Given the description of an element on the screen output the (x, y) to click on. 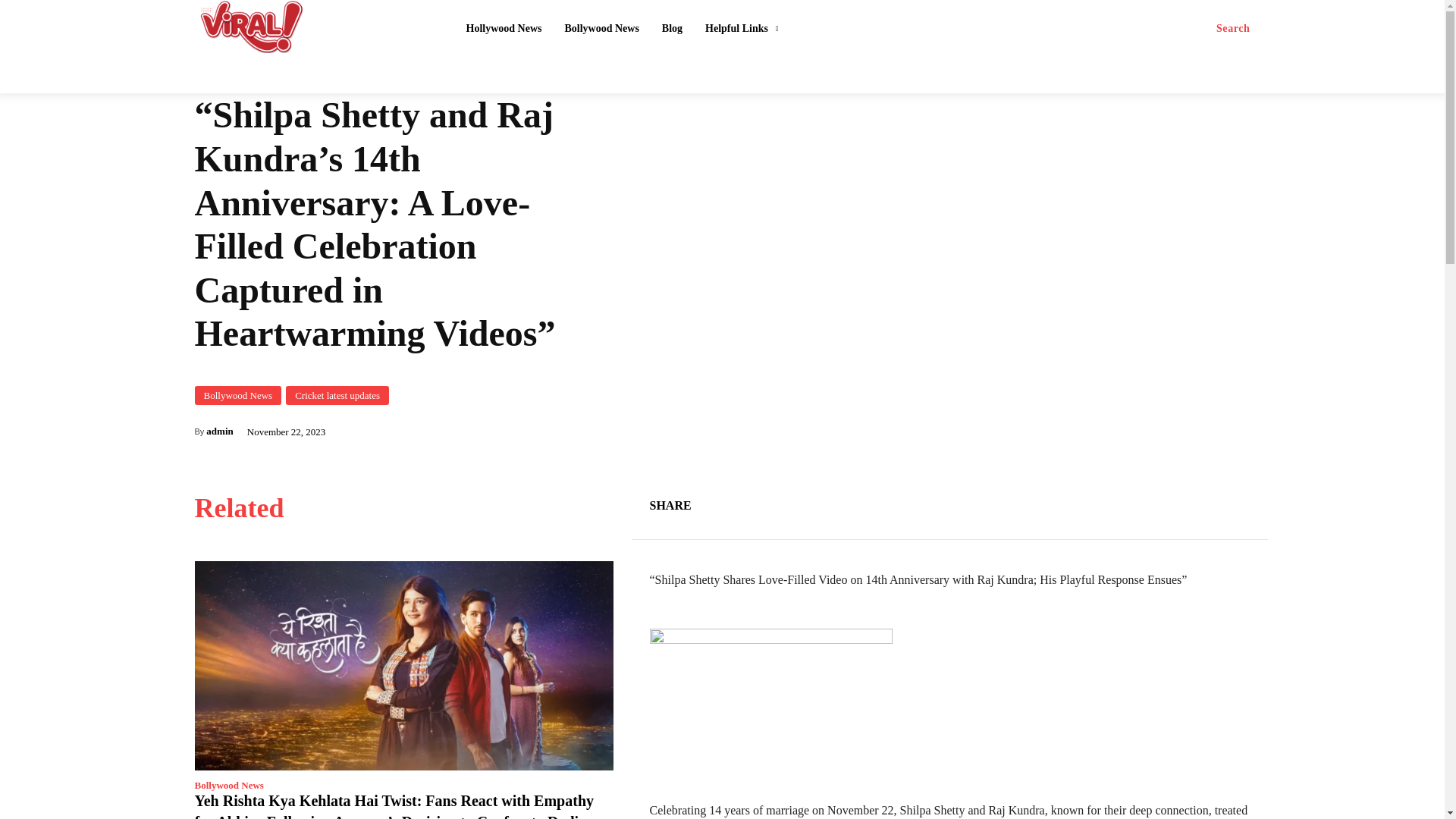
Hollywood News (503, 29)
Blog (671, 29)
Helpful Links (741, 29)
Bollywood News (237, 394)
admin (219, 430)
Bollywood News (228, 785)
Search (1232, 29)
Bollywood News (601, 29)
Cricket latest updates (336, 394)
